Given the description of an element on the screen output the (x, y) to click on. 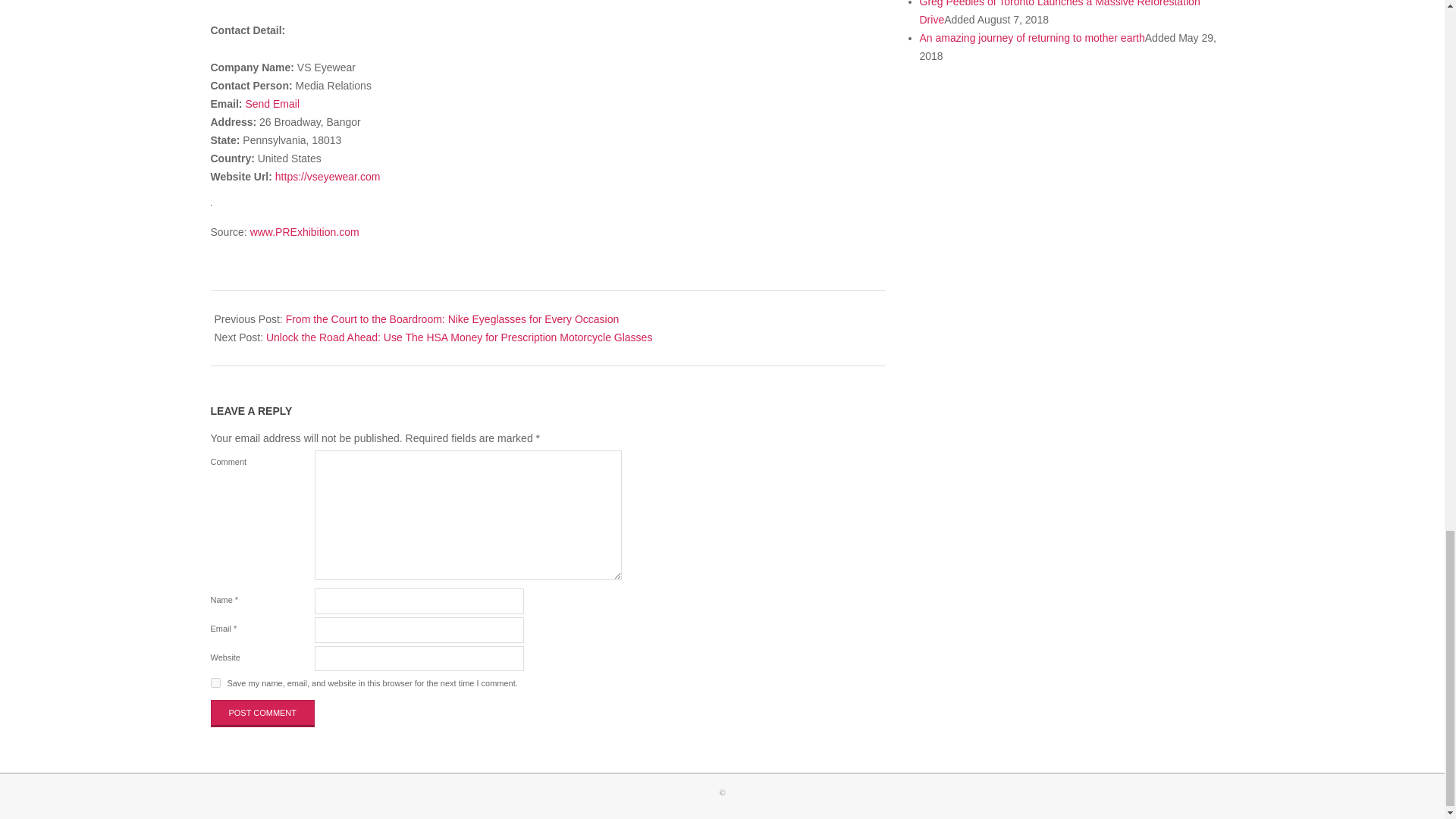
Post Comment (263, 713)
www.PRExhibition.com (304, 232)
Send Email (271, 103)
yes (216, 682)
Post Comment (263, 713)
